Given the description of an element on the screen output the (x, y) to click on. 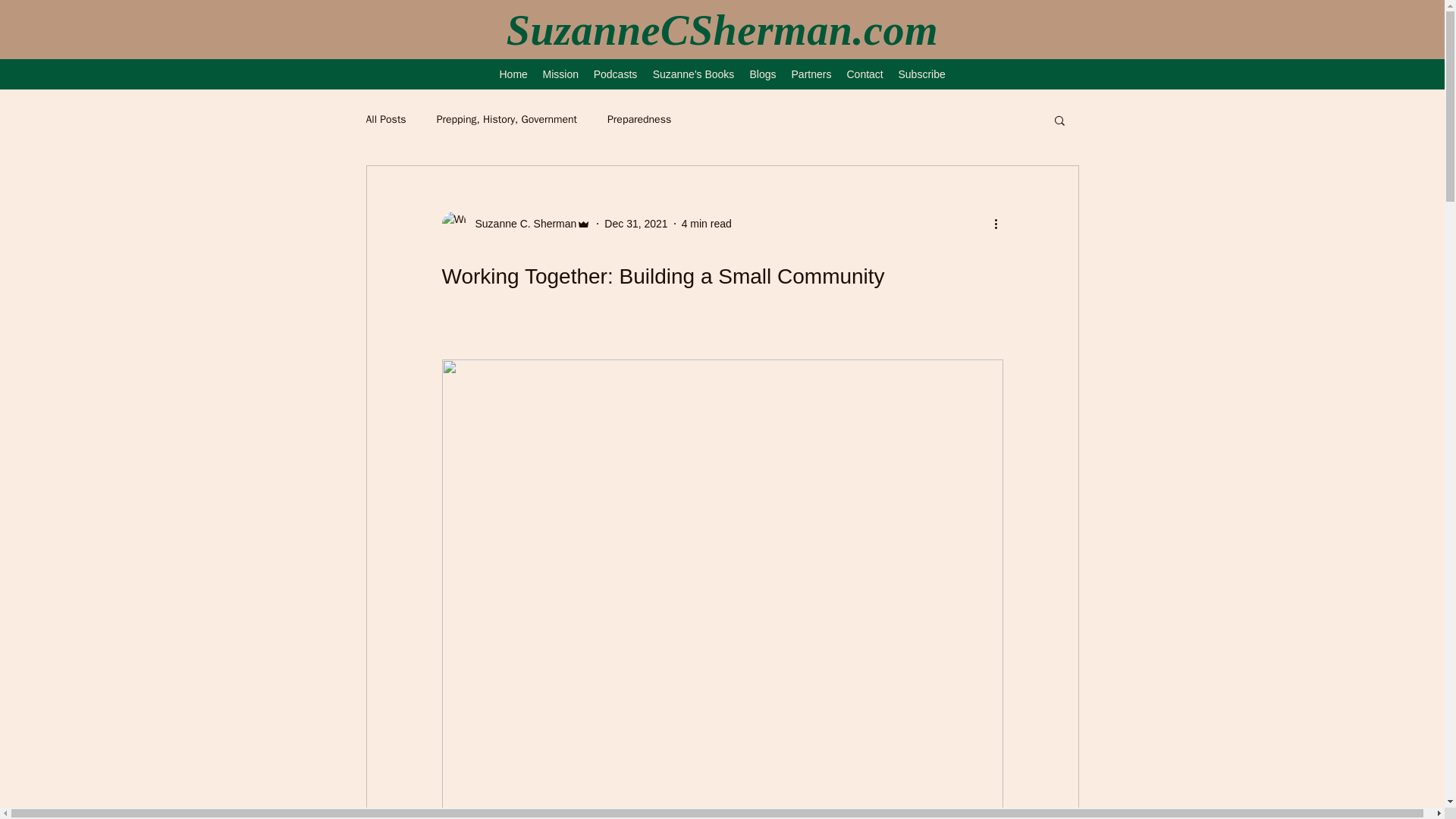
Prepping, History, Government (506, 119)
Podcasts (615, 74)
4 min read (706, 223)
Log In (1408, 17)
Preparedness (639, 119)
All Posts (385, 119)
Home (513, 74)
Mission (560, 74)
Suzanne's Books (693, 74)
Partners (812, 74)
